Given the description of an element on the screen output the (x, y) to click on. 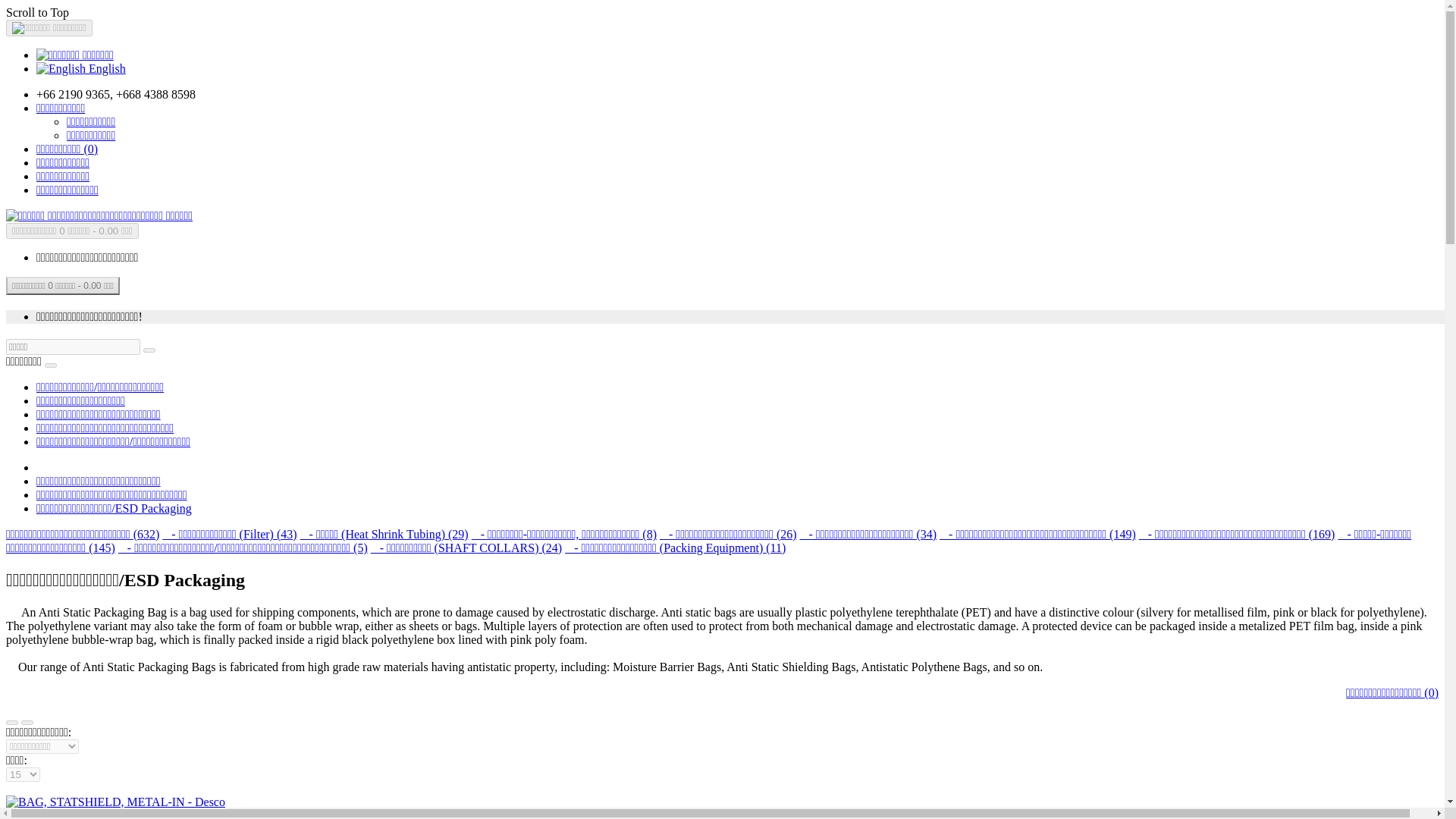
English (80, 68)
BAG, STATSHIELD, METAL-IN - Desco (115, 802)
English (60, 69)
